Given the description of an element on the screen output the (x, y) to click on. 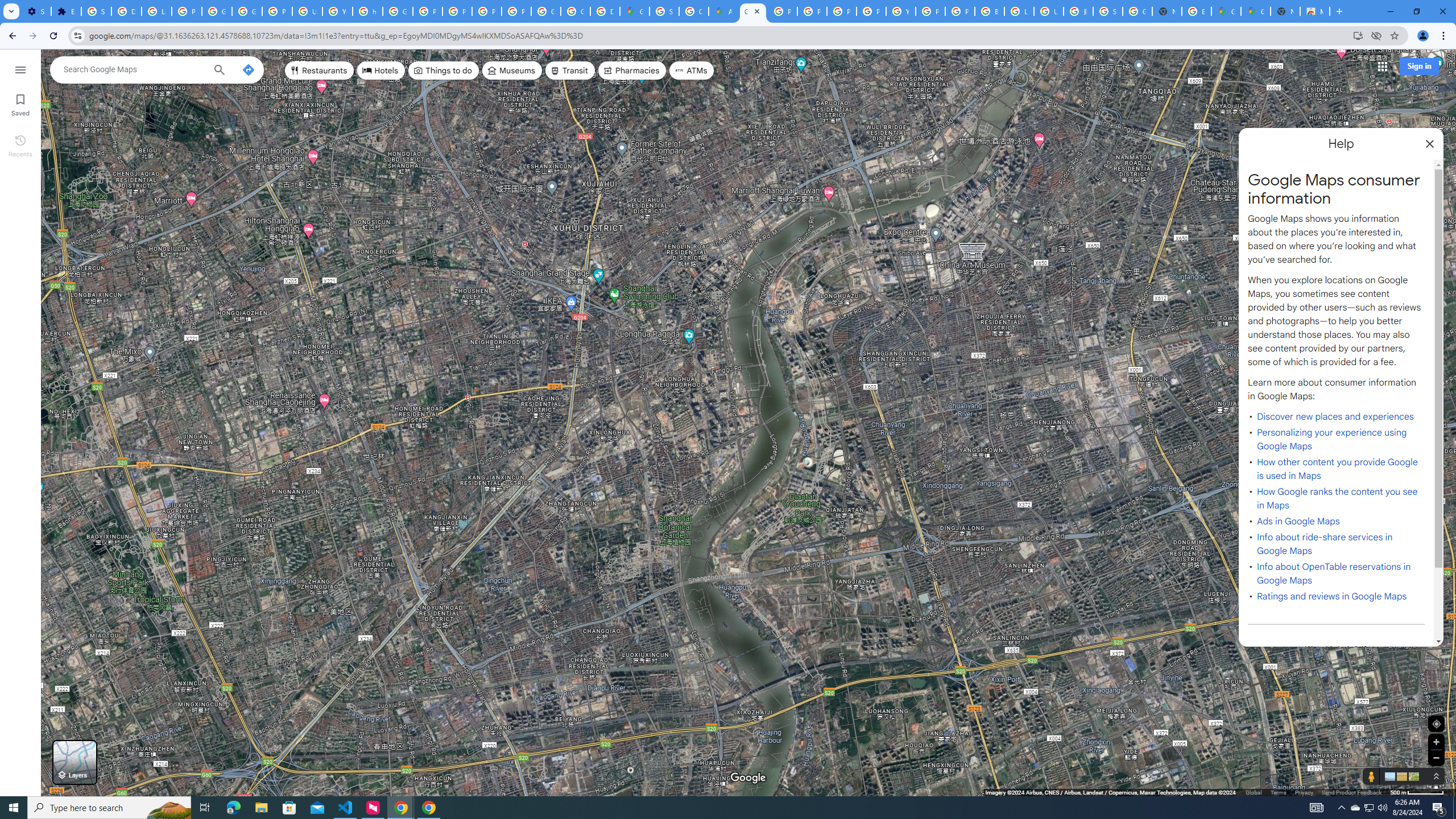
Zoom in (1436, 741)
YouTube (900, 11)
Google Maps (1255, 11)
Google Account Help (216, 11)
Sign in - Google Accounts (664, 11)
Directions (247, 69)
Privacy Help Center - Policies Help (811, 11)
Send Product Feedback (1351, 792)
Personalizing your experience using Google Maps (1331, 439)
Google Maps (753, 11)
